Given the description of an element on the screen output the (x, y) to click on. 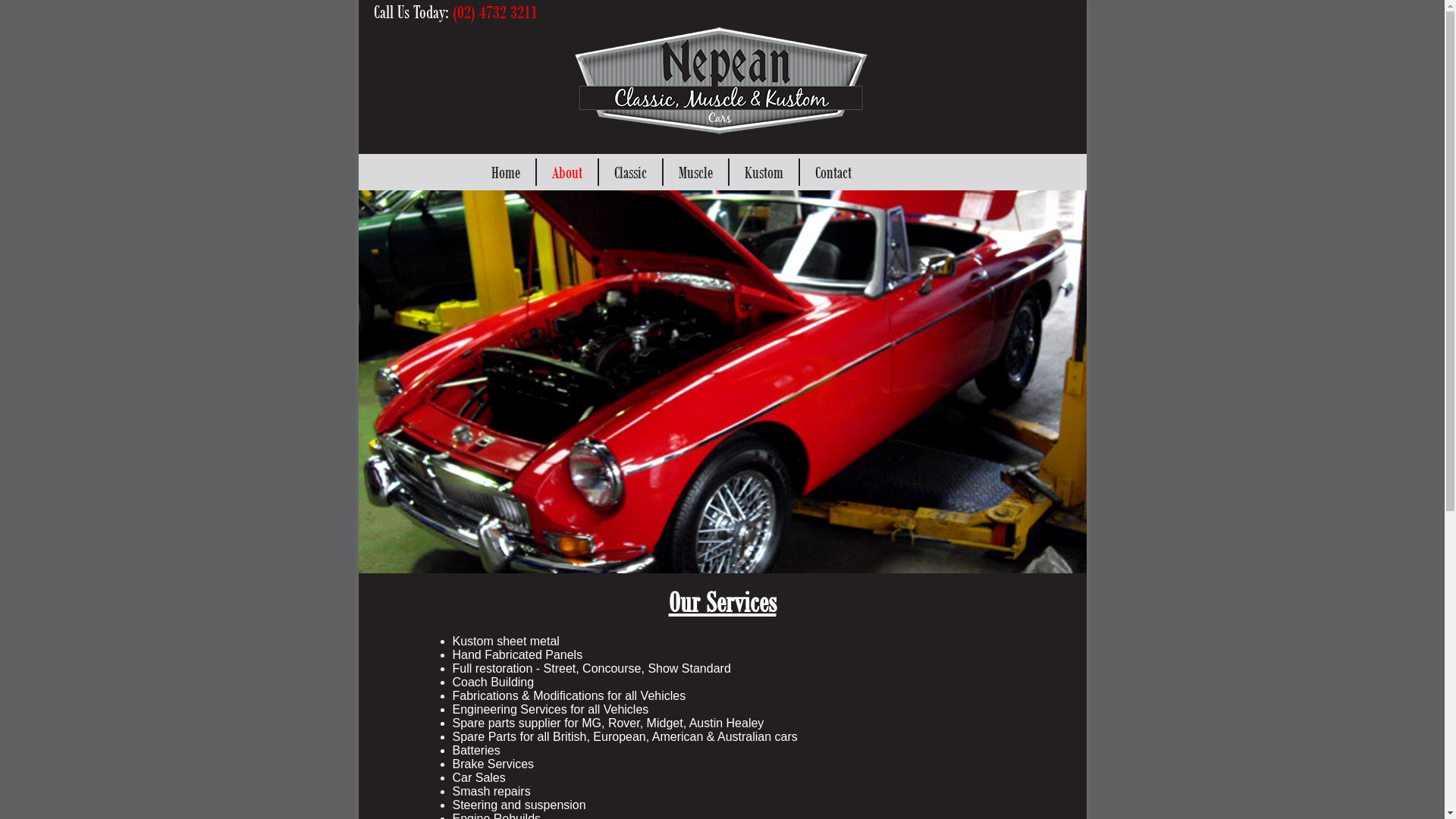
Classic Element type: text (630, 171)
Home Element type: text (505, 171)
Contact Element type: text (832, 171)
Kustom Element type: text (763, 171)
About Element type: text (566, 171)
Muscle Element type: text (694, 171)
